Given the description of an element on the screen output the (x, y) to click on. 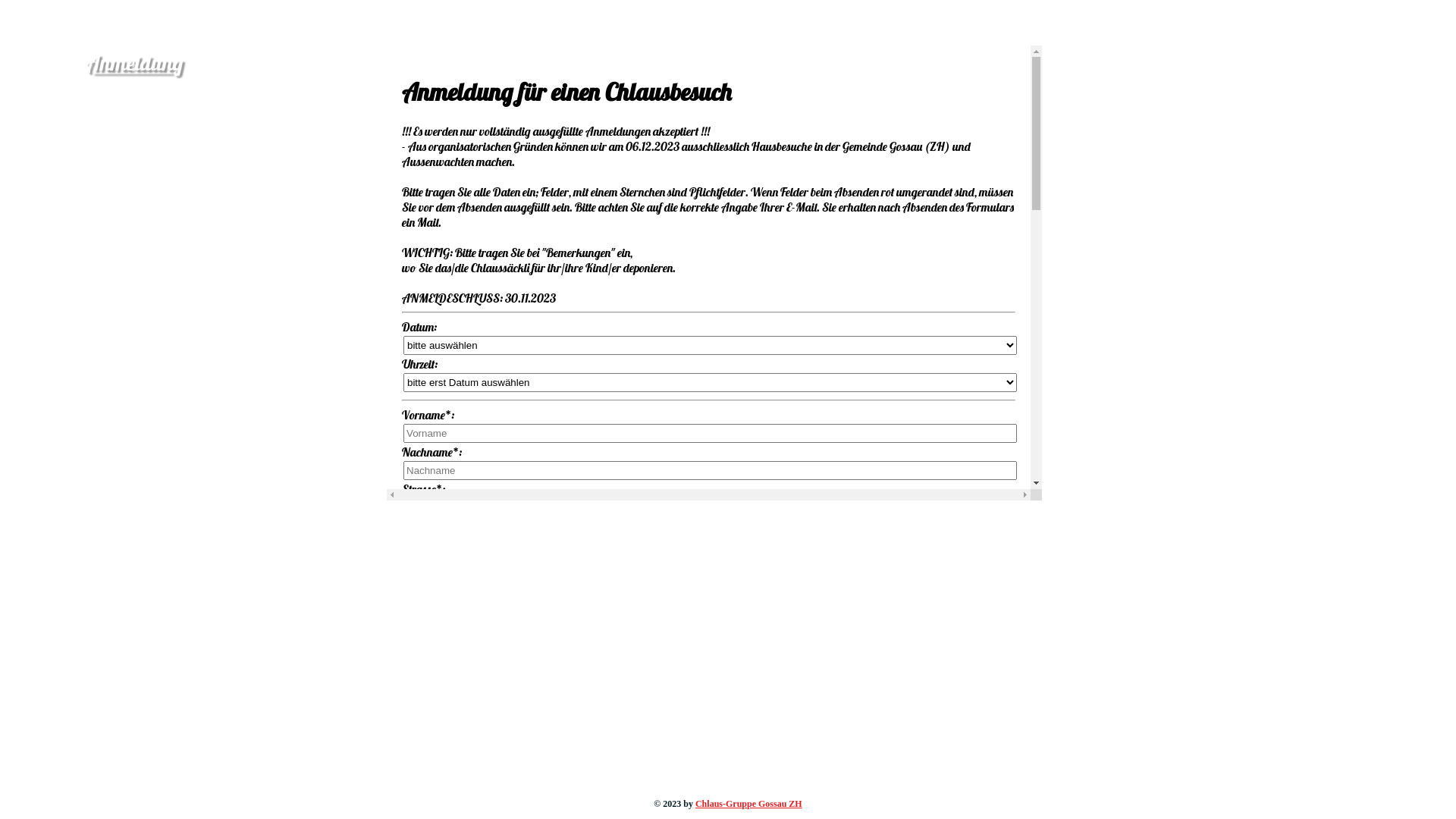
Chlaus-Gruppe Gossau ZH Element type: text (748, 803)
Anmeldung Element type: text (133, 62)
